Given the description of an element on the screen output the (x, y) to click on. 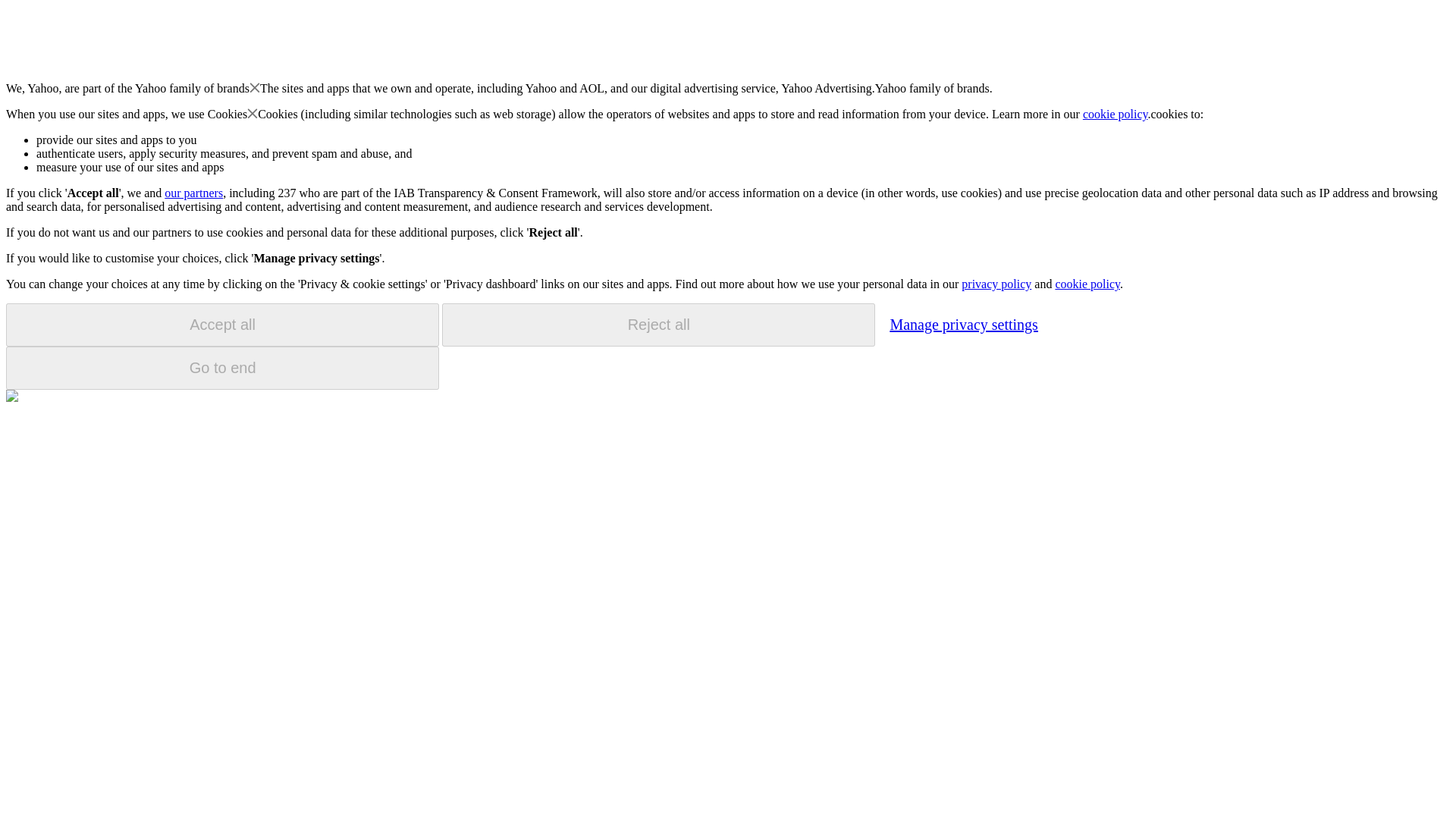
cookie policy (1115, 113)
Go to end (222, 367)
cookie policy (1086, 283)
privacy policy (995, 283)
Reject all (658, 324)
our partners (193, 192)
Accept all (222, 324)
Manage privacy settings (963, 323)
